Given the description of an element on the screen output the (x, y) to click on. 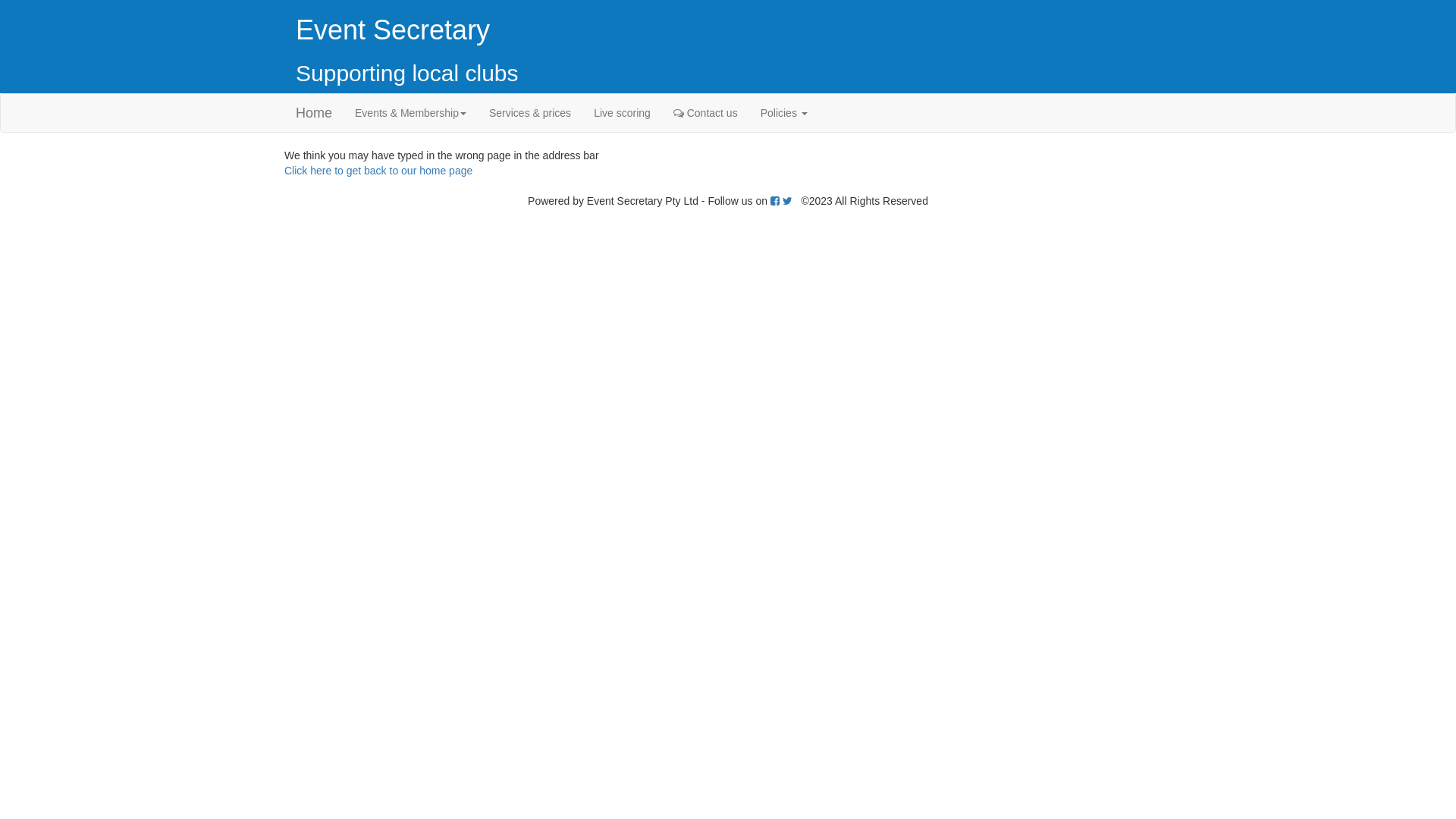
Live scoring Element type: text (622, 112)
Home Element type: text (313, 112)
Policies Element type: text (784, 112)
Services & prices Element type: text (529, 112)
Click here to get back to our home page Element type: text (378, 170)
Contact us Element type: text (705, 112)
Events & Membership Element type: text (410, 112)
